Given the description of an element on the screen output the (x, y) to click on. 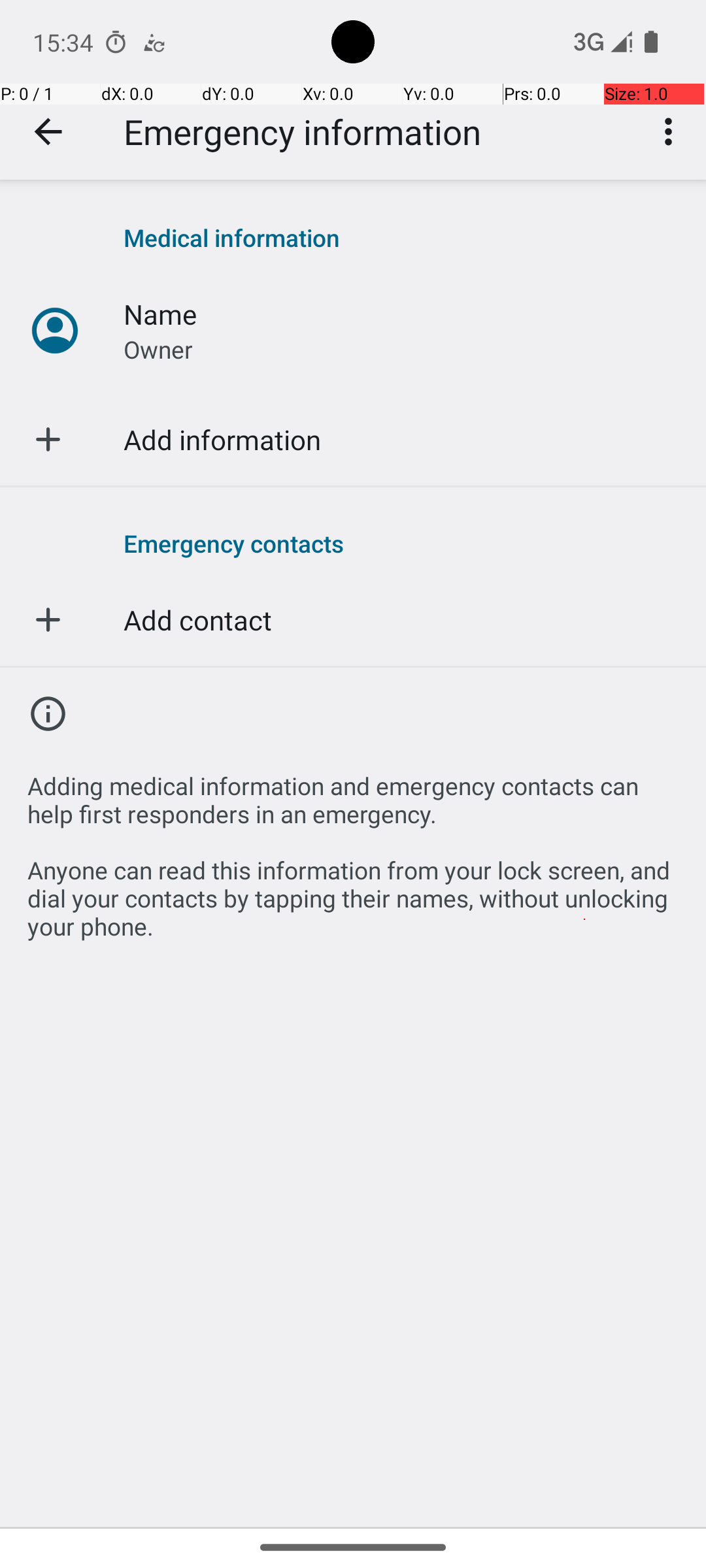
Emergency information Element type: android.widget.TextView (302, 131)
Medical information Element type: android.widget.TextView (400, 237)
Owner Element type: android.widget.TextView (157, 348)
Add information Element type: android.widget.TextView (221, 438)
Emergency contacts Element type: android.widget.TextView (400, 542)
Add contact Element type: android.widget.TextView (197, 619)
Adding medical information and emergency contacts can help first responders in an emergency.

Anyone can read this information from your lock screen, and dial your contacts by tapping their names, without unlocking your phone. Element type: android.widget.TextView (352, 848)
